Given the description of an element on the screen output the (x, y) to click on. 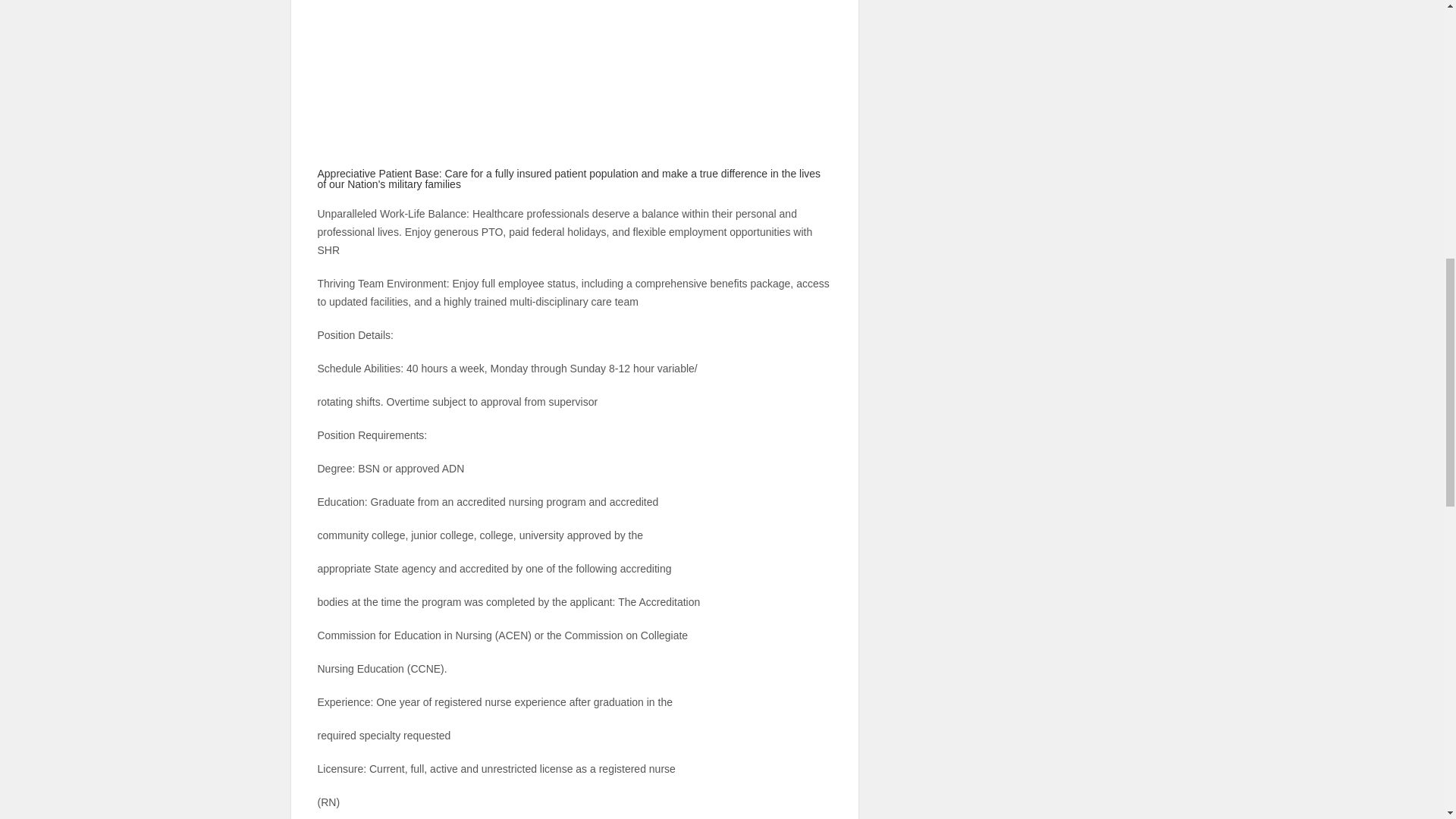
Advertisement (574, 102)
